Given the description of an element on the screen output the (x, y) to click on. 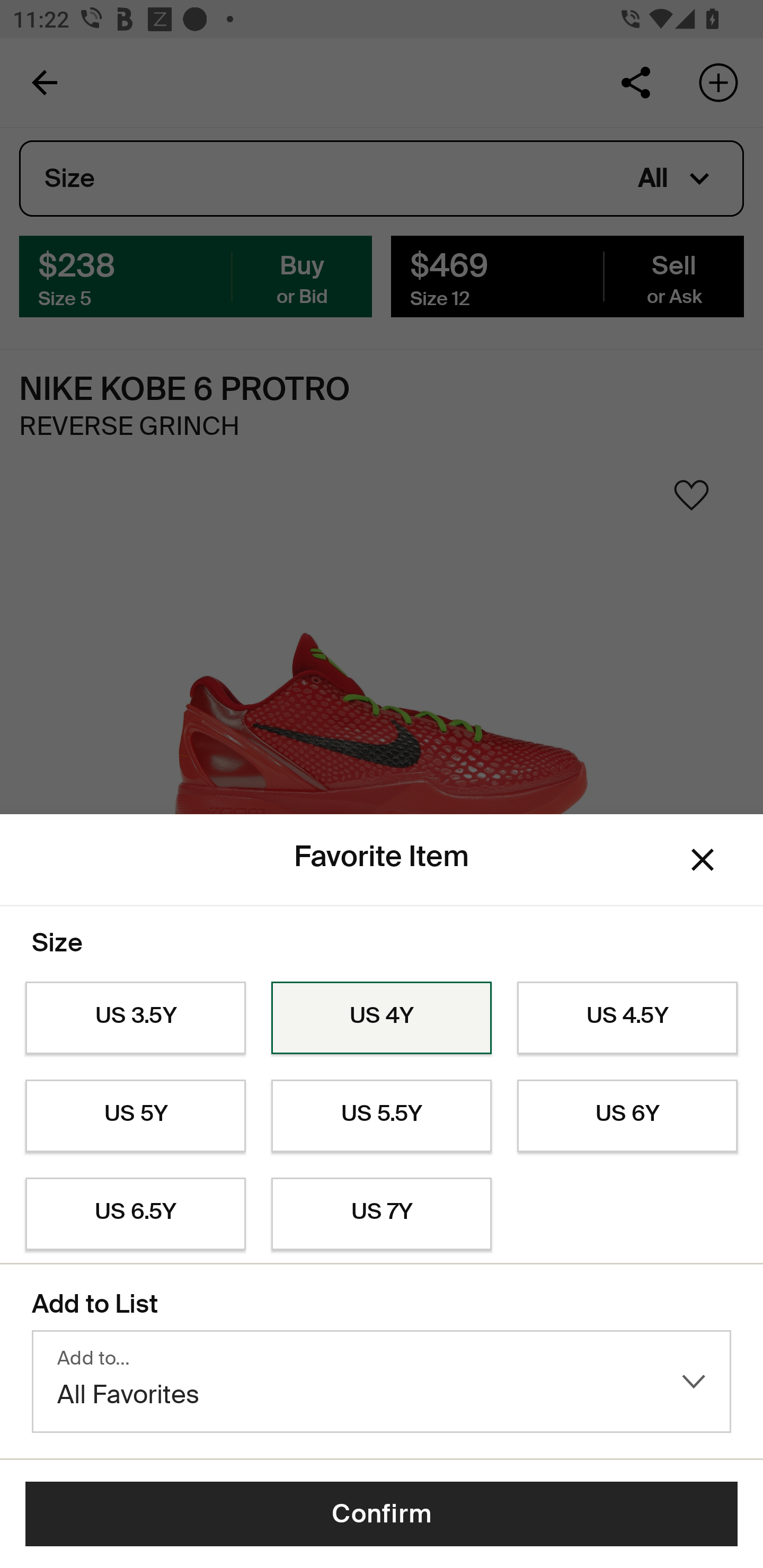
Dismiss (702, 859)
US 3.5Y (135, 1018)
US 4Y (381, 1018)
US 4.5Y (627, 1018)
US 5Y (135, 1116)
US 5.5Y (381, 1116)
US 6Y (627, 1116)
US 6.5Y (135, 1214)
US 7Y (381, 1214)
Add to… All Favorites (381, 1381)
Confirm (381, 1513)
